Given the description of an element on the screen output the (x, y) to click on. 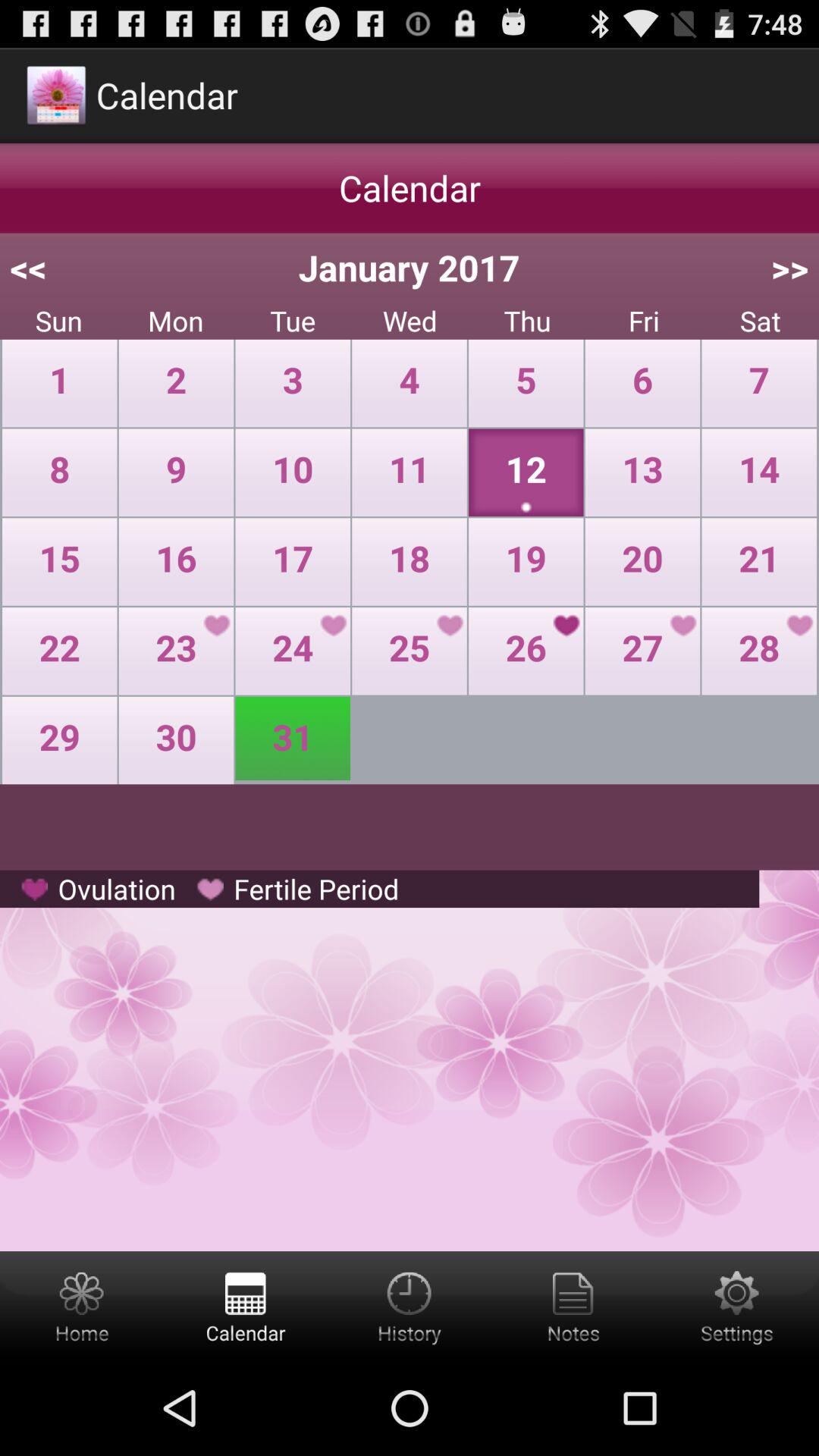
settings option (737, 1305)
